Given the description of an element on the screen output the (x, y) to click on. 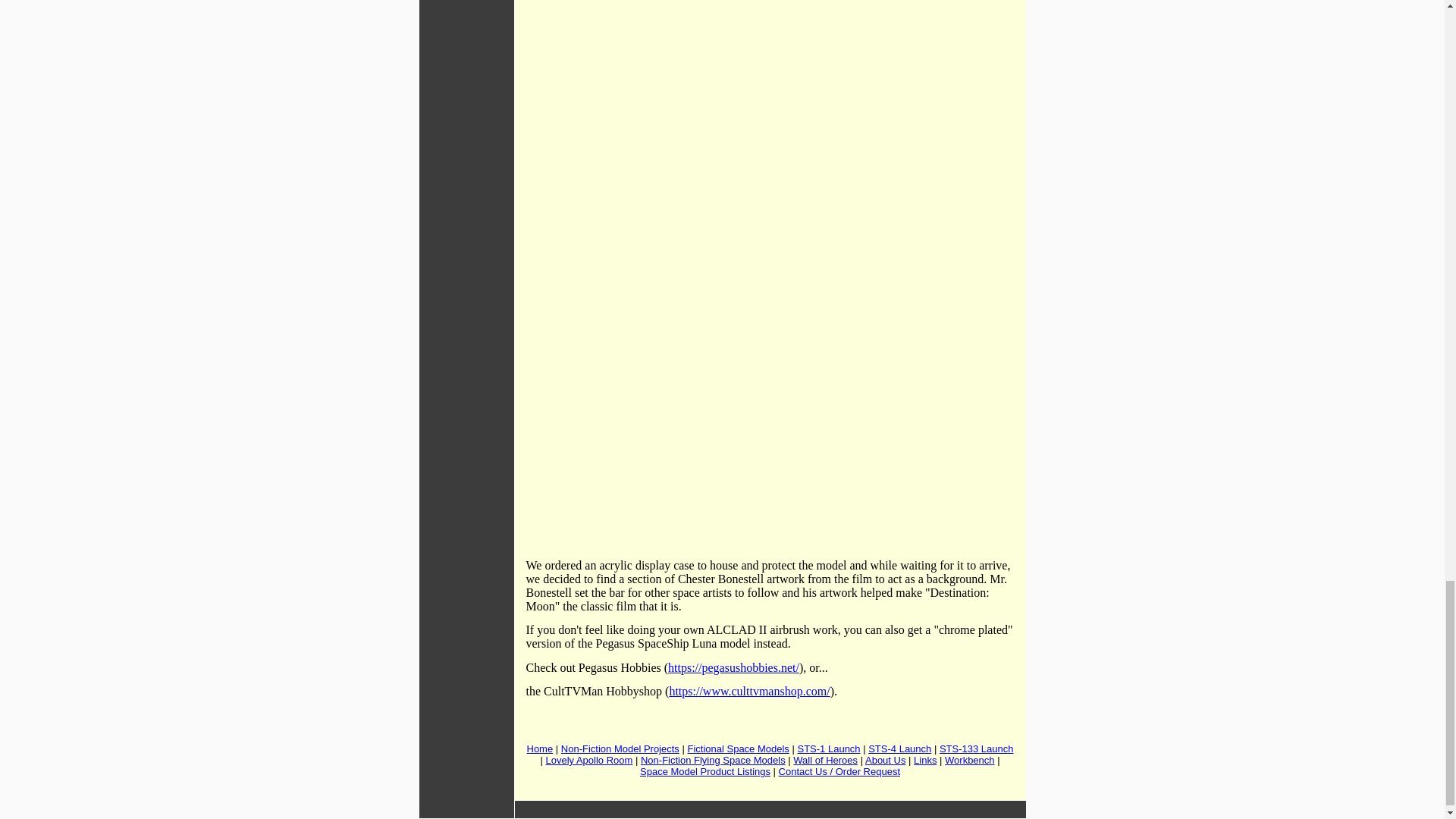
STS-1 Launch (828, 748)
Non-Fiction Model Projects (619, 748)
STS-133 Launch (976, 748)
Fictional Space Models (738, 748)
Workbench (969, 759)
Space Model Product Listings (705, 771)
STS-4 Launch (899, 748)
Non-Fiction Flying Space Models (713, 759)
Links (925, 759)
About Us (884, 759)
